Given the description of an element on the screen output the (x, y) to click on. 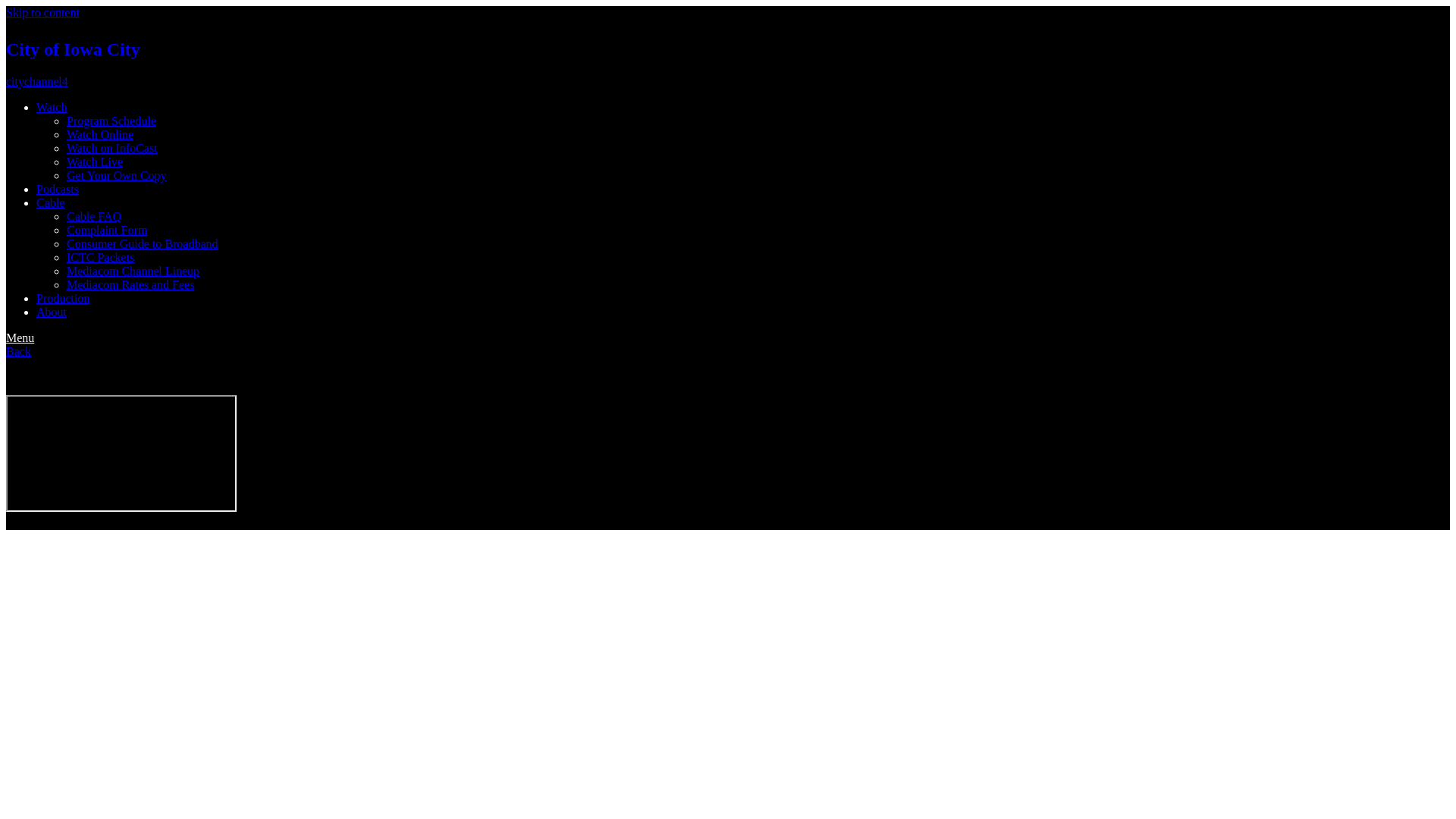
Podcasts (57, 188)
Skip to content (42, 11)
Watch Live (94, 161)
Complaint Form (106, 229)
Watch Online (99, 133)
citychannel4 (36, 81)
Mediacom Rates and Fees (129, 284)
Get Your Own Copy (116, 174)
Program Schedule (110, 120)
About (51, 311)
